Given the description of an element on the screen output the (x, y) to click on. 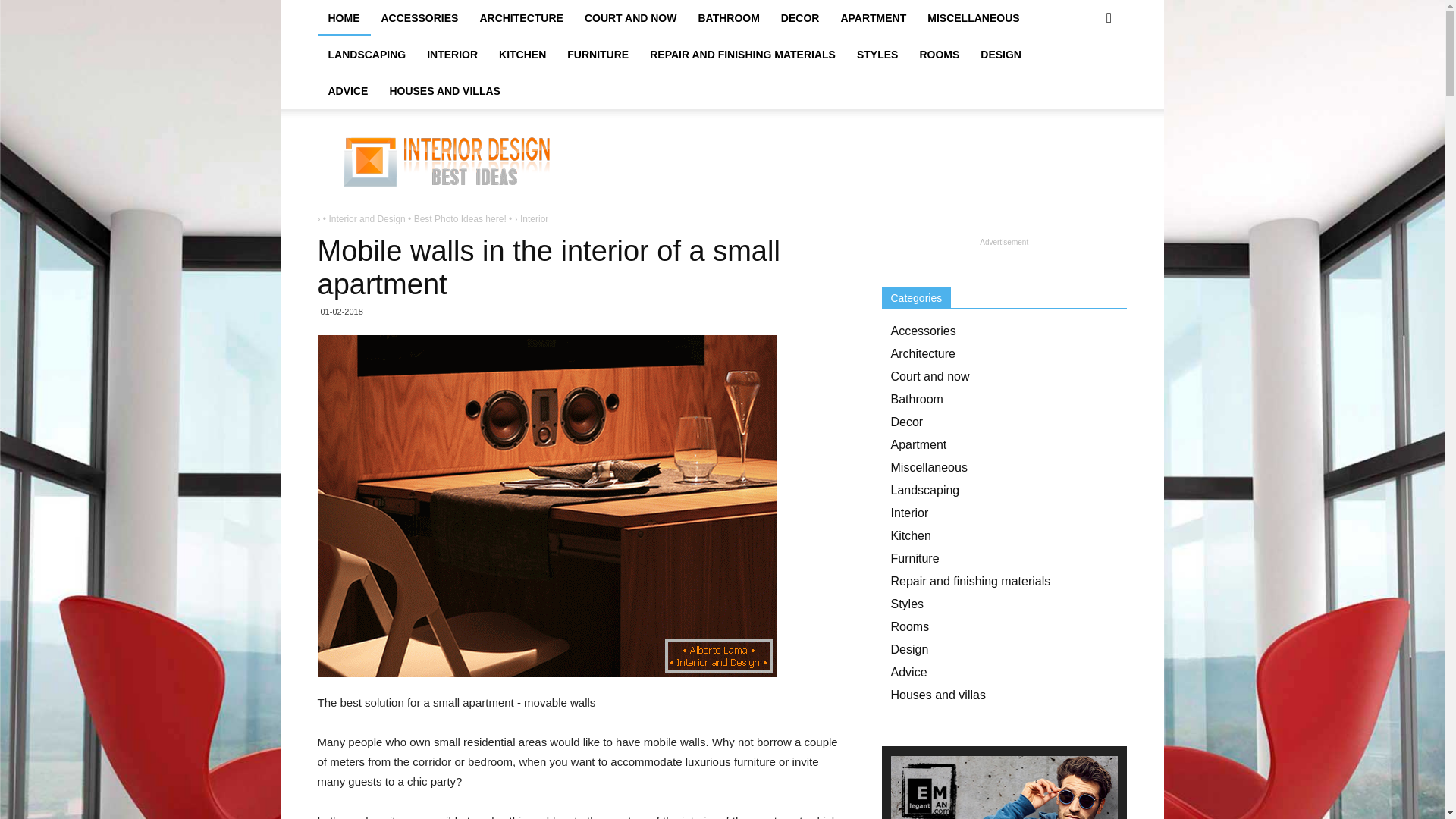
LANDSCAPING (366, 54)
KITCHEN (521, 54)
DECOR (799, 18)
ARCHITECTURE (520, 18)
ACCESSORIES (418, 18)
BATHROOM (728, 18)
FURNITURE (597, 54)
MISCELLANEOUS (973, 18)
COURT AND NOW (630, 18)
APARTMENT (873, 18)
